Given the description of an element on the screen output the (x, y) to click on. 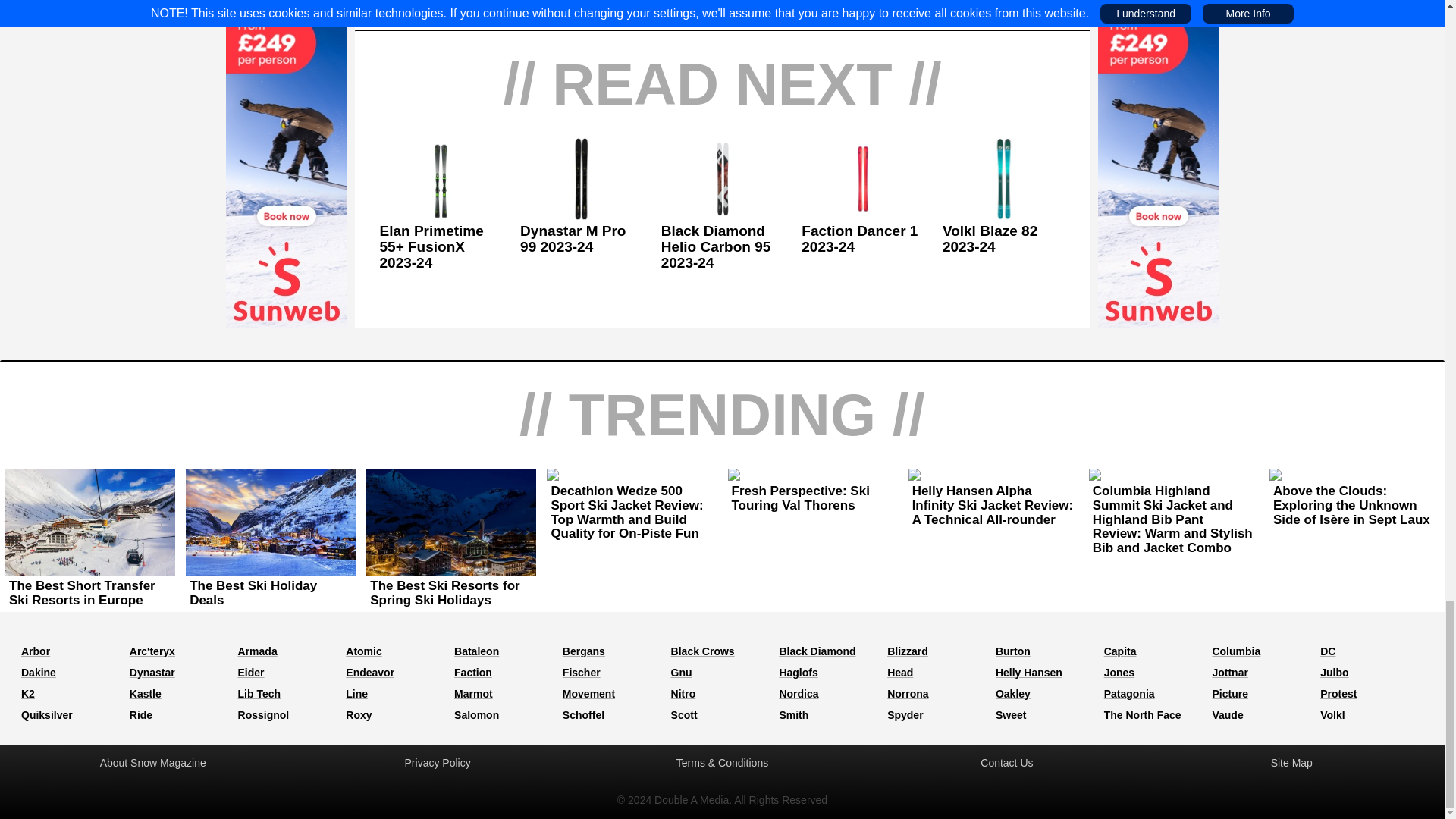
Dynastar M Pro 99 2023-24 (581, 239)
